Given the description of an element on the screen output the (x, y) to click on. 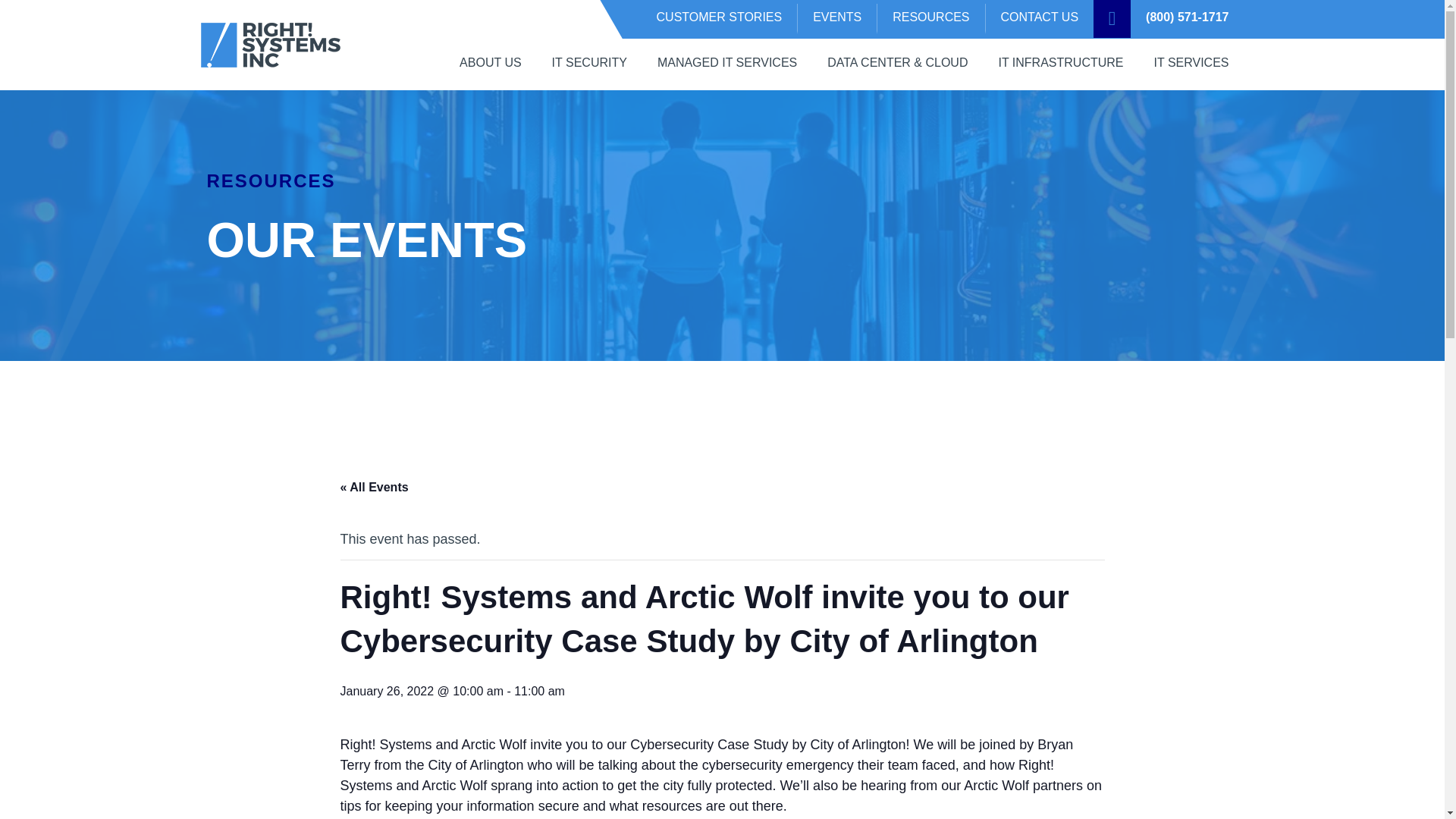
RESOURCES (931, 19)
IT SECURITY (589, 63)
CUSTOMER STORIES (719, 19)
EVENTS (837, 19)
ABOUT US (490, 63)
MANAGED IT SERVICES (727, 63)
IT INFRASTRUCTURE (1060, 63)
CONTACT US (1039, 19)
IT SERVICES (1191, 63)
